Given the description of an element on the screen output the (x, y) to click on. 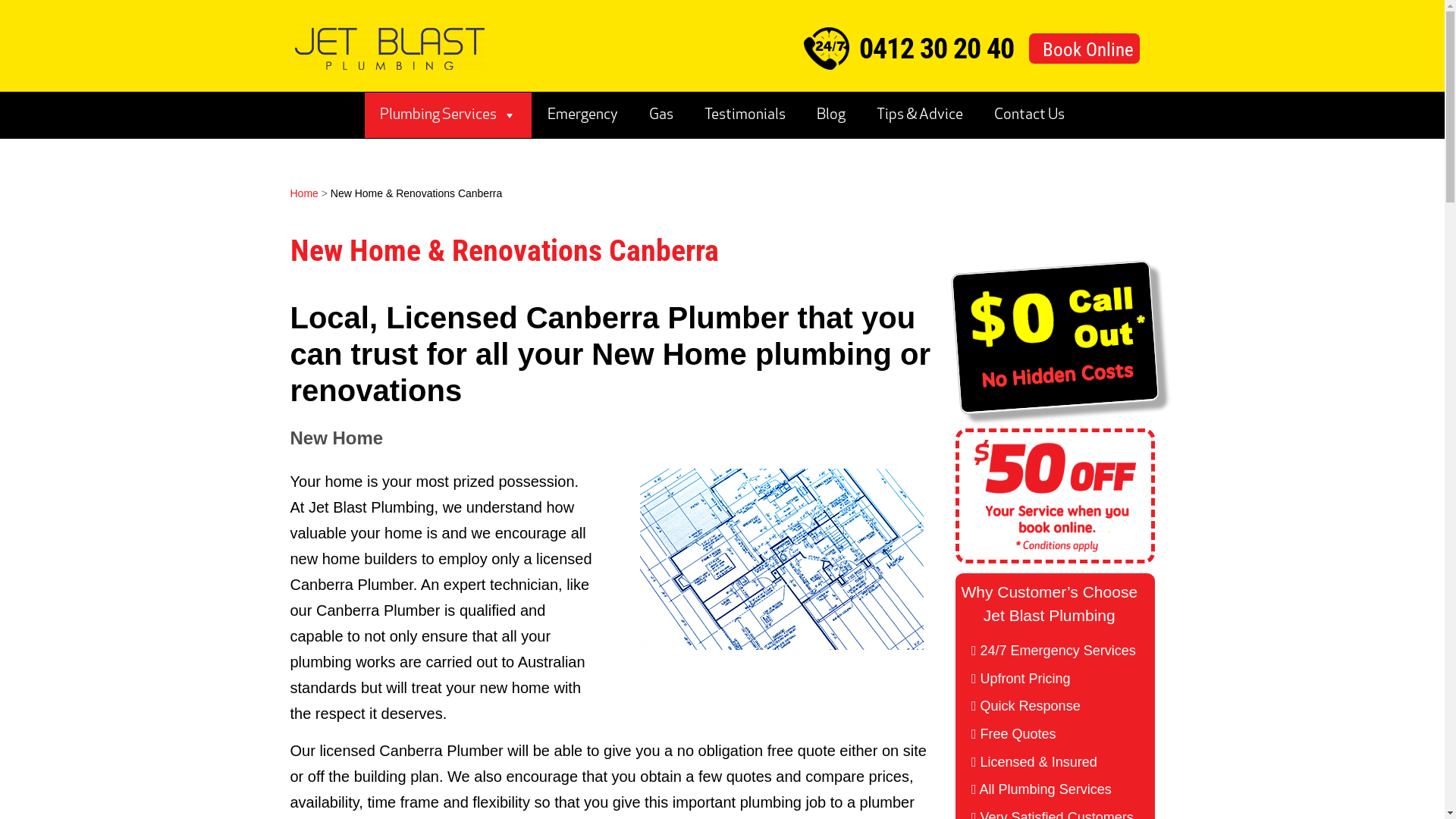
Emergency Element type: text (582, 115)
Home Element type: hover (389, 47)
Contact Us Element type: text (1029, 115)
Tips & Advice Element type: text (920, 115)
Plumbing Services Element type: text (448, 115)
Blog Element type: text (831, 115)
Testimonials Element type: text (745, 115)
0412 30 20 40 Element type: text (935, 48)
Gas Element type: text (661, 115)
Skip to content Element type: text (289, 91)
Book Online Element type: text (1083, 48)
Home Element type: text (303, 193)
New Home & Renovations Canberra Element type: text (416, 193)
